Given the description of an element on the screen output the (x, y) to click on. 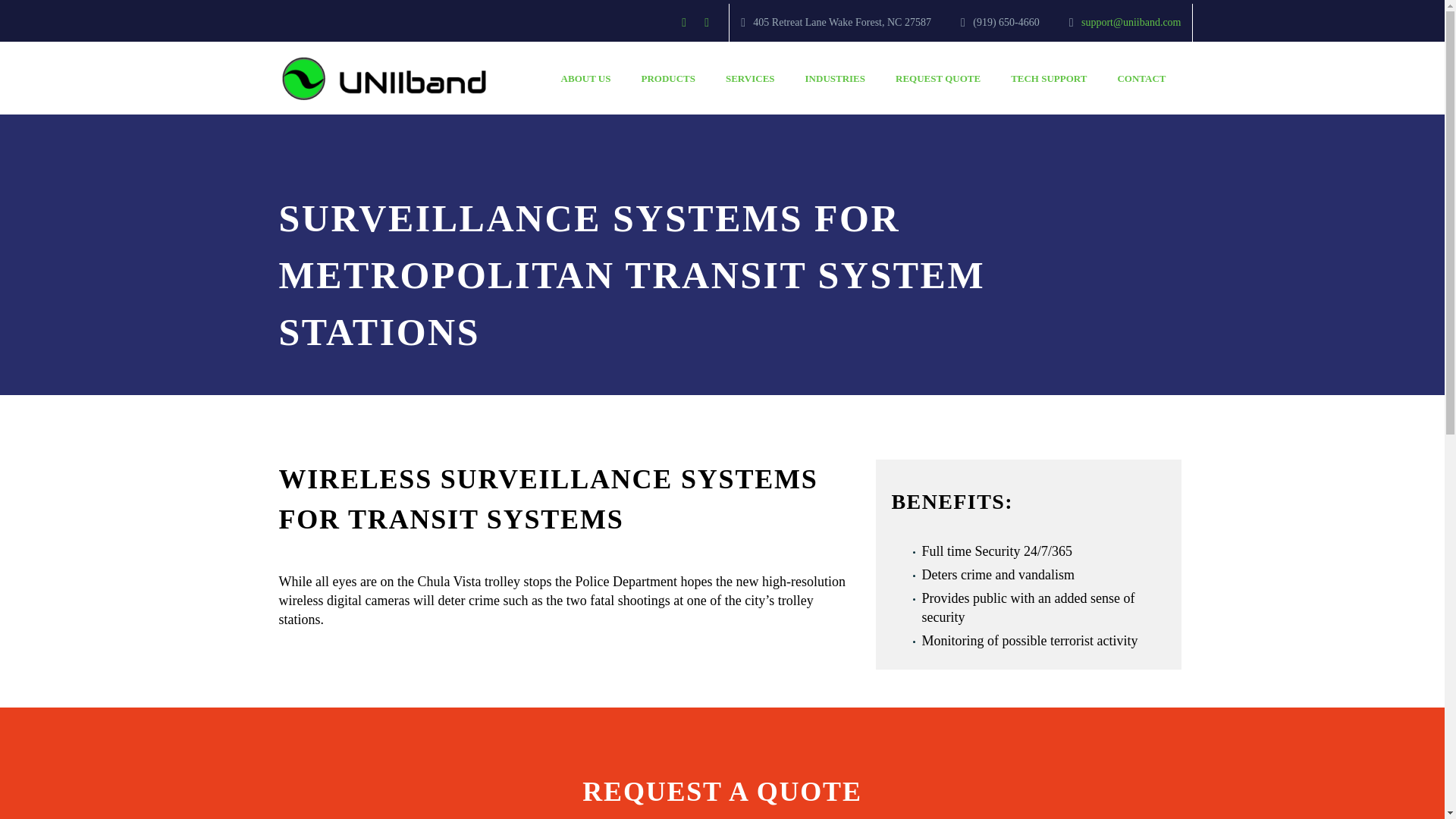
CONTACT (1141, 78)
ABOUT US (586, 78)
TECH SUPPORT (1048, 78)
SERVICES (750, 78)
linkedin (706, 22)
REQUEST QUOTE (937, 78)
INDUSTRIES (835, 78)
facebook (683, 22)
PRODUCTS (668, 78)
